Given the description of an element on the screen output the (x, y) to click on. 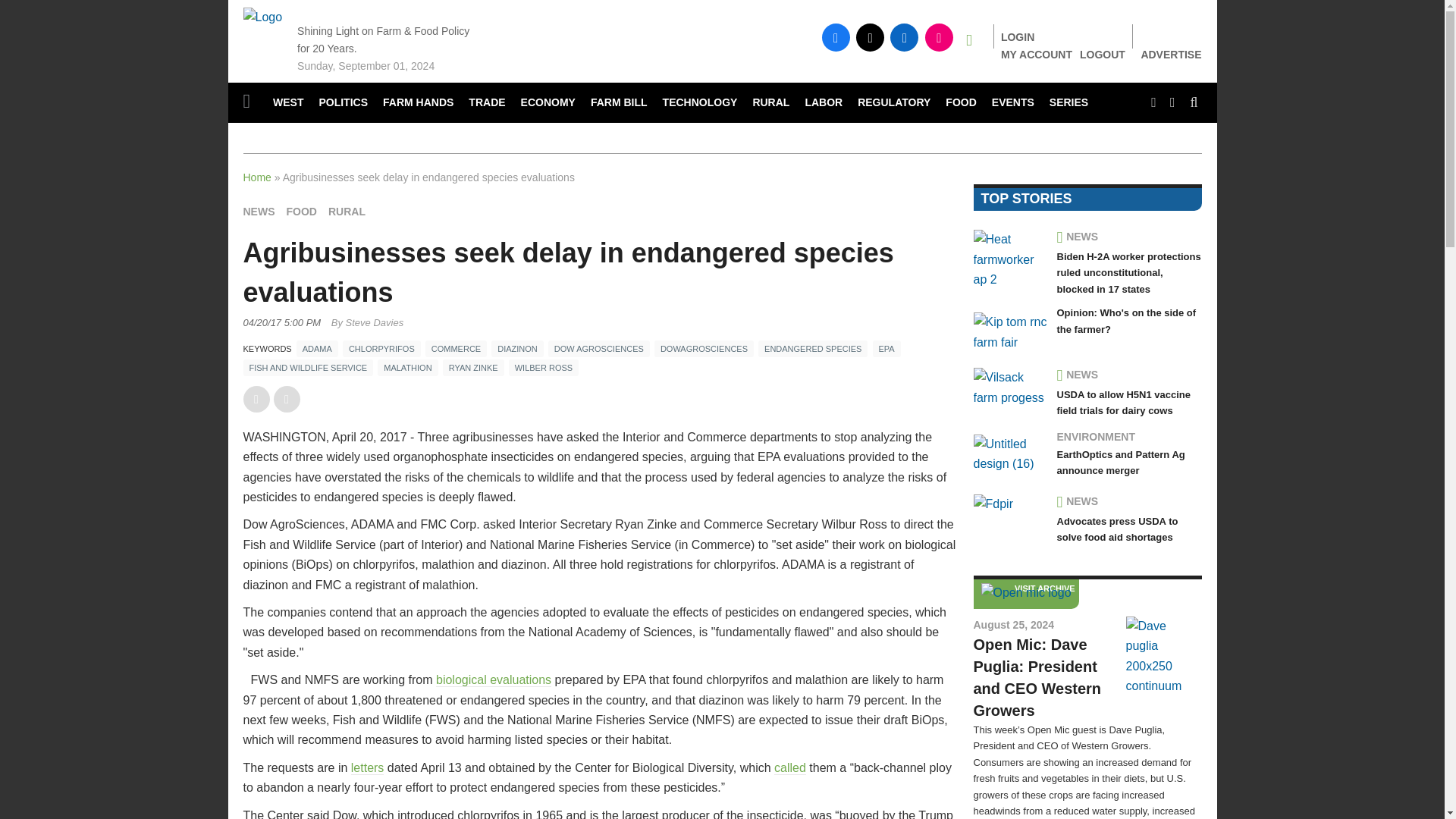
FARM HANDS (418, 102)
LABOR (823, 102)
POLITICS (343, 102)
ECONOMY (548, 102)
TRADE (486, 102)
TECHNOLOGY (700, 102)
EVENTS (1013, 102)
LOGOUT (1102, 54)
WEST (287, 102)
FOOD (960, 102)
